Given the description of an element on the screen output the (x, y) to click on. 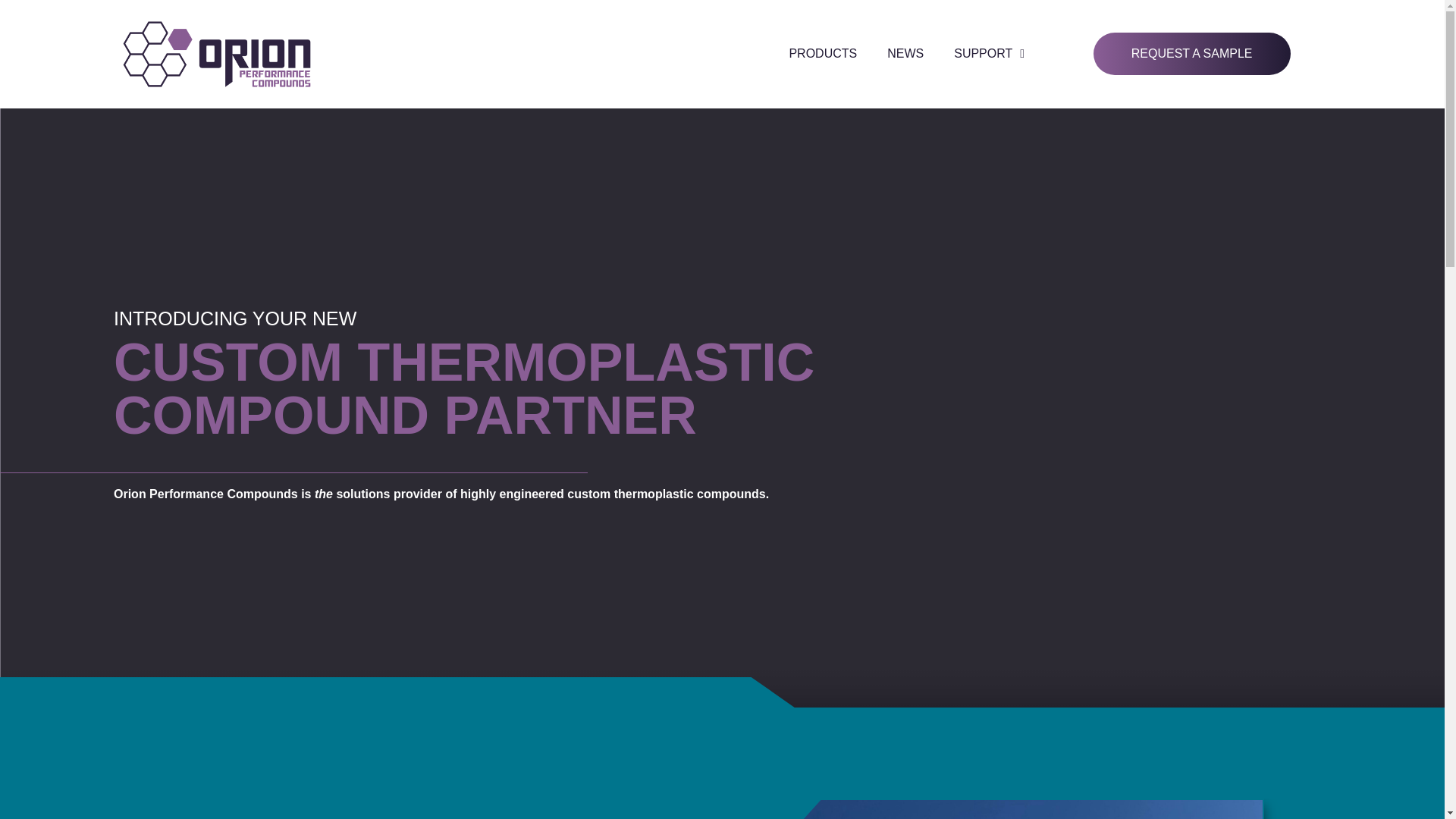
REQUEST A SAMPLE (1191, 53)
NEWS (905, 53)
SUPPORT (989, 53)
PRODUCTS (822, 53)
